Given the description of an element on the screen output the (x, y) to click on. 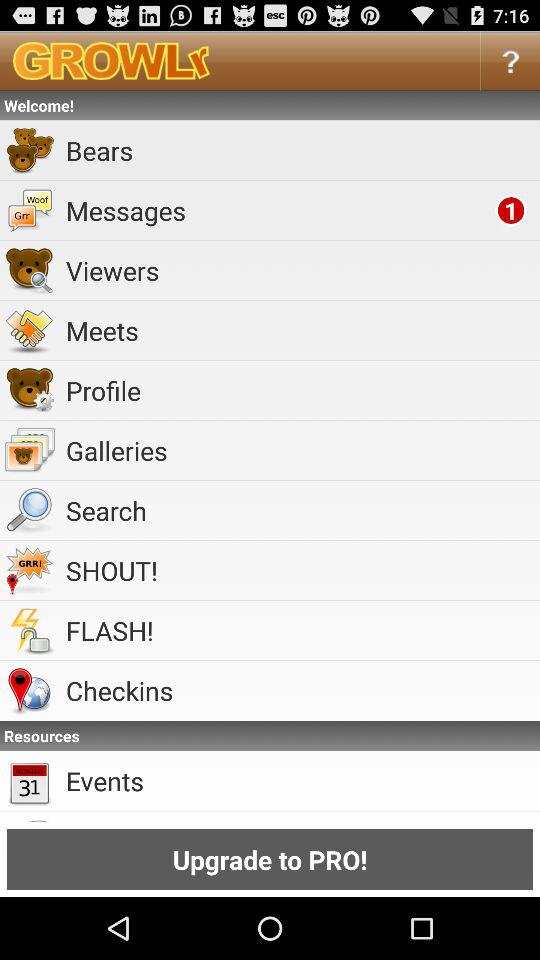
select item above viewers (277, 210)
